Given the description of an element on the screen output the (x, y) to click on. 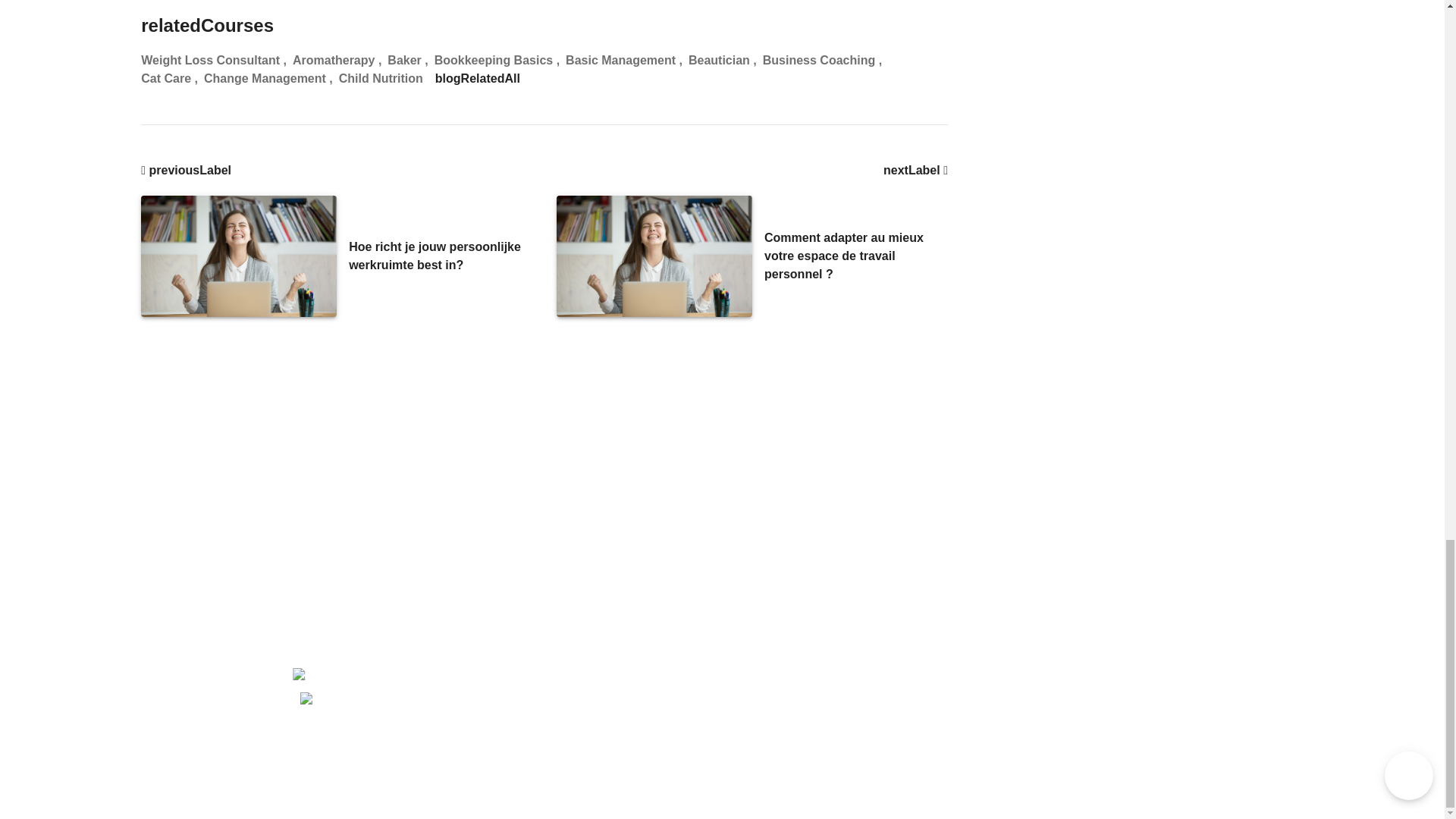
Basic Management , (627, 60)
Cat Care , (172, 78)
Beautician , (725, 60)
appDownloadiOS (348, 706)
Aromatherapy , (339, 60)
appDownloadiOS (356, 706)
Weight Loss Consultant , (216, 60)
Business Coaching , (825, 60)
Bookkeeping Basics , (499, 60)
appDownloadAndroid (356, 676)
Baker , (410, 60)
